Given the description of an element on the screen output the (x, y) to click on. 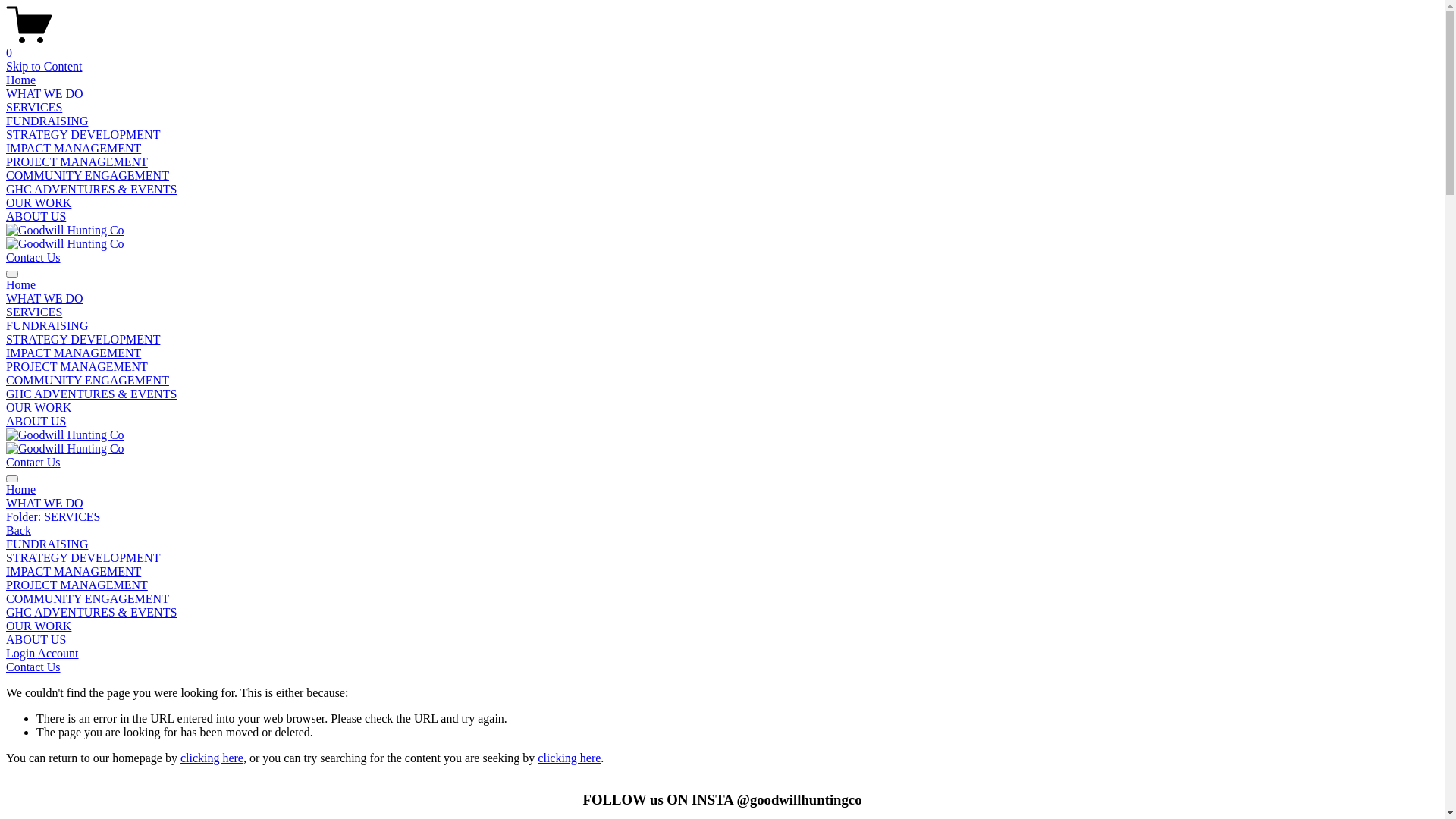
PROJECT MANAGEMENT Element type: text (76, 161)
OUR WORK Element type: text (722, 626)
Contact Us Element type: text (33, 461)
Folder: SERVICES Element type: text (722, 517)
ABOUT US Element type: text (35, 420)
Contact Us Element type: text (33, 666)
IMPACT MANAGEMENT Element type: text (73, 352)
0 Element type: text (722, 45)
FUNDRAISING Element type: text (46, 120)
GHC ADVENTURES & EVENTS Element type: text (91, 188)
IMPACT MANAGEMENT Element type: text (722, 571)
GHC ADVENTURES & EVENTS Element type: text (91, 393)
SERVICES Element type: text (34, 311)
WHAT WE DO Element type: text (44, 297)
STRATEGY DEVELOPMENT Element type: text (83, 338)
Skip to Content Element type: text (43, 65)
COMMUNITY ENGAGEMENT Element type: text (722, 598)
COMMUNITY ENGAGEMENT Element type: text (87, 379)
COMMUNITY ENGAGEMENT Element type: text (87, 175)
clicking here Element type: text (211, 757)
SERVICES Element type: text (34, 106)
Home Element type: text (20, 284)
OUR WORK Element type: text (38, 407)
clicking here Element type: text (568, 757)
Contact Us Element type: text (33, 257)
STRATEGY DEVELOPMENT Element type: text (83, 134)
OUR WORK Element type: text (38, 202)
Home Element type: text (20, 79)
GHC ADVENTURES & EVENTS Element type: text (722, 612)
PROJECT MANAGEMENT Element type: text (722, 585)
ABOUT US Element type: text (35, 216)
WHAT WE DO Element type: text (722, 503)
FUNDRAISING Element type: text (46, 325)
IMPACT MANAGEMENT Element type: text (73, 147)
WHAT WE DO Element type: text (44, 93)
PROJECT MANAGEMENT Element type: text (76, 366)
FUNDRAISING Element type: text (722, 544)
Back Element type: text (18, 530)
ABOUT US Element type: text (722, 639)
Home Element type: text (722, 489)
STRATEGY DEVELOPMENT Element type: text (722, 557)
Login Account Element type: text (42, 652)
